Given the description of an element on the screen output the (x, y) to click on. 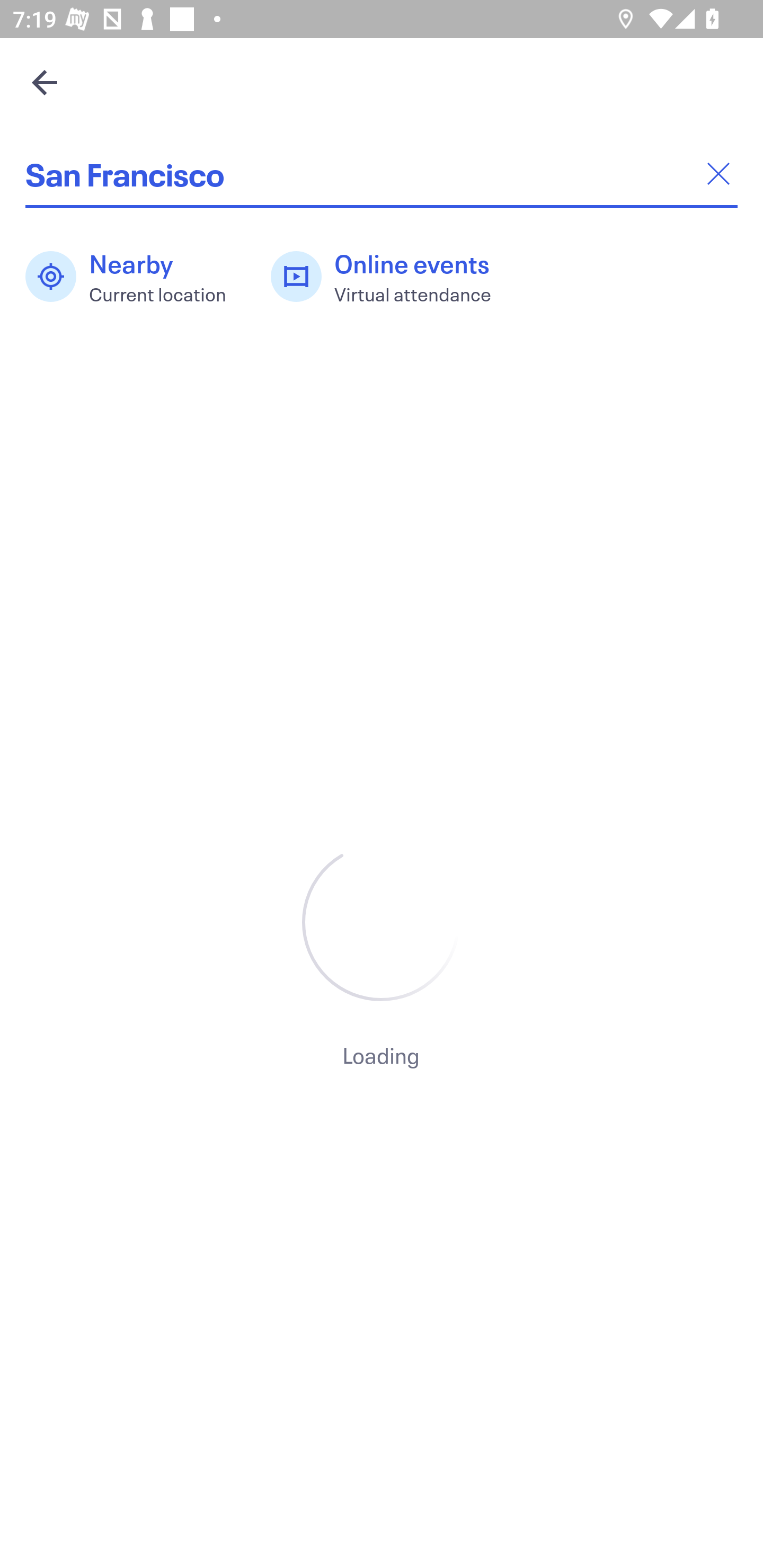
Navigate up (44, 82)
San Francisco (381, 173)
Nearby Current location (135, 276)
Online events Virtual attendance (390, 276)
